Given the description of an element on the screen output the (x, y) to click on. 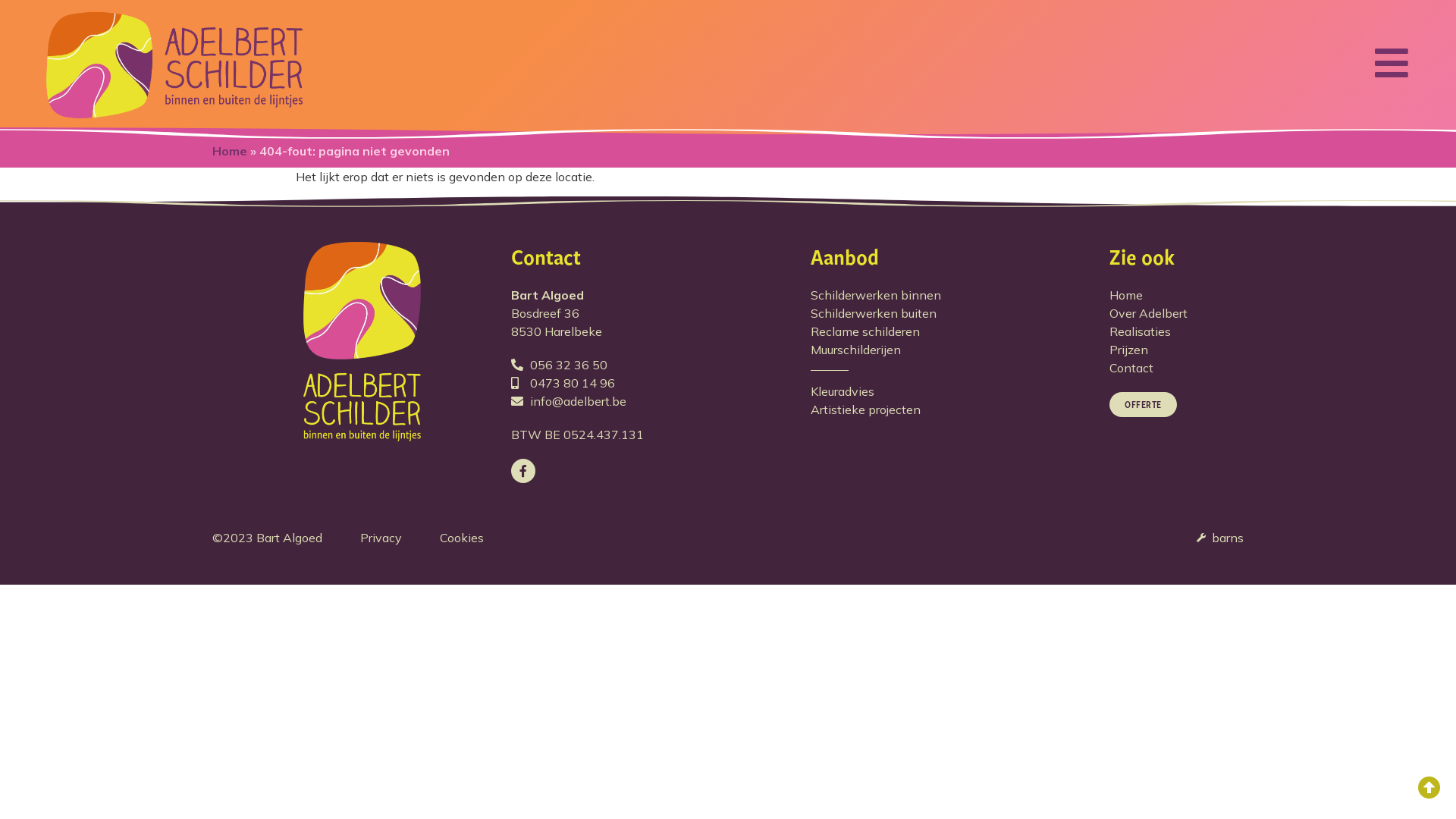
0473 80 14 96 Element type: text (660, 382)
Contact Element type: text (1176, 367)
Cookies Element type: text (461, 537)
Over Adelbert Element type: text (1176, 313)
Home Element type: text (229, 150)
Schilderwerken buiten Element type: text (959, 313)
Home Element type: text (1176, 294)
Realisaties Element type: text (1176, 331)
Muurschilderijen Element type: text (959, 349)
Kleuradvies Element type: text (959, 391)
Prijzen Element type: text (1176, 349)
Artistieke projecten Element type: text (959, 409)
Schilderwerken binnen Element type: text (959, 294)
barns Element type: text (1219, 537)
OFFERTE Element type: text (1142, 404)
Reclame schilderen Element type: text (959, 331)
info@adelbert.be Element type: text (660, 401)
056 32 36 50 Element type: text (660, 364)
Privacy Element type: text (380, 537)
